Given the description of an element on the screen output the (x, y) to click on. 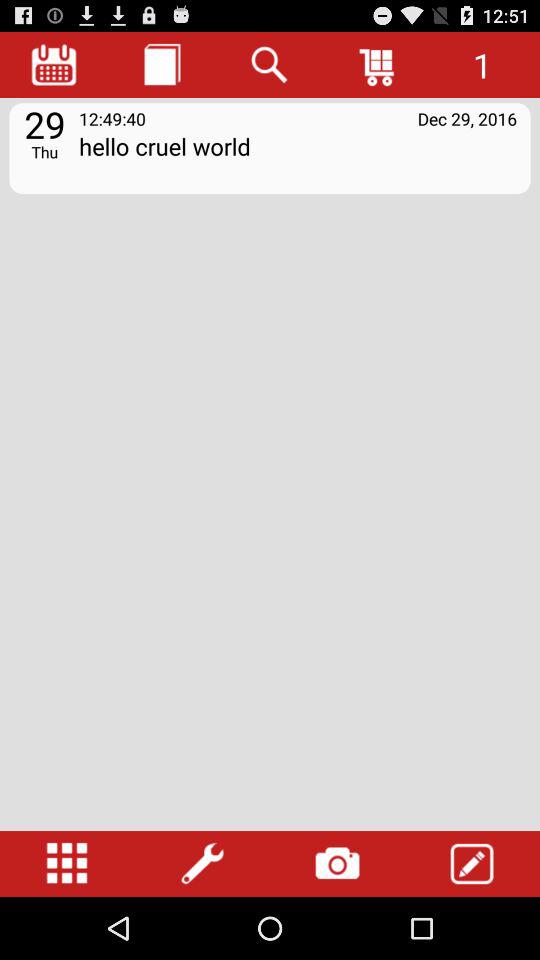
go to shopping cart (377, 64)
